Given the description of an element on the screen output the (x, y) to click on. 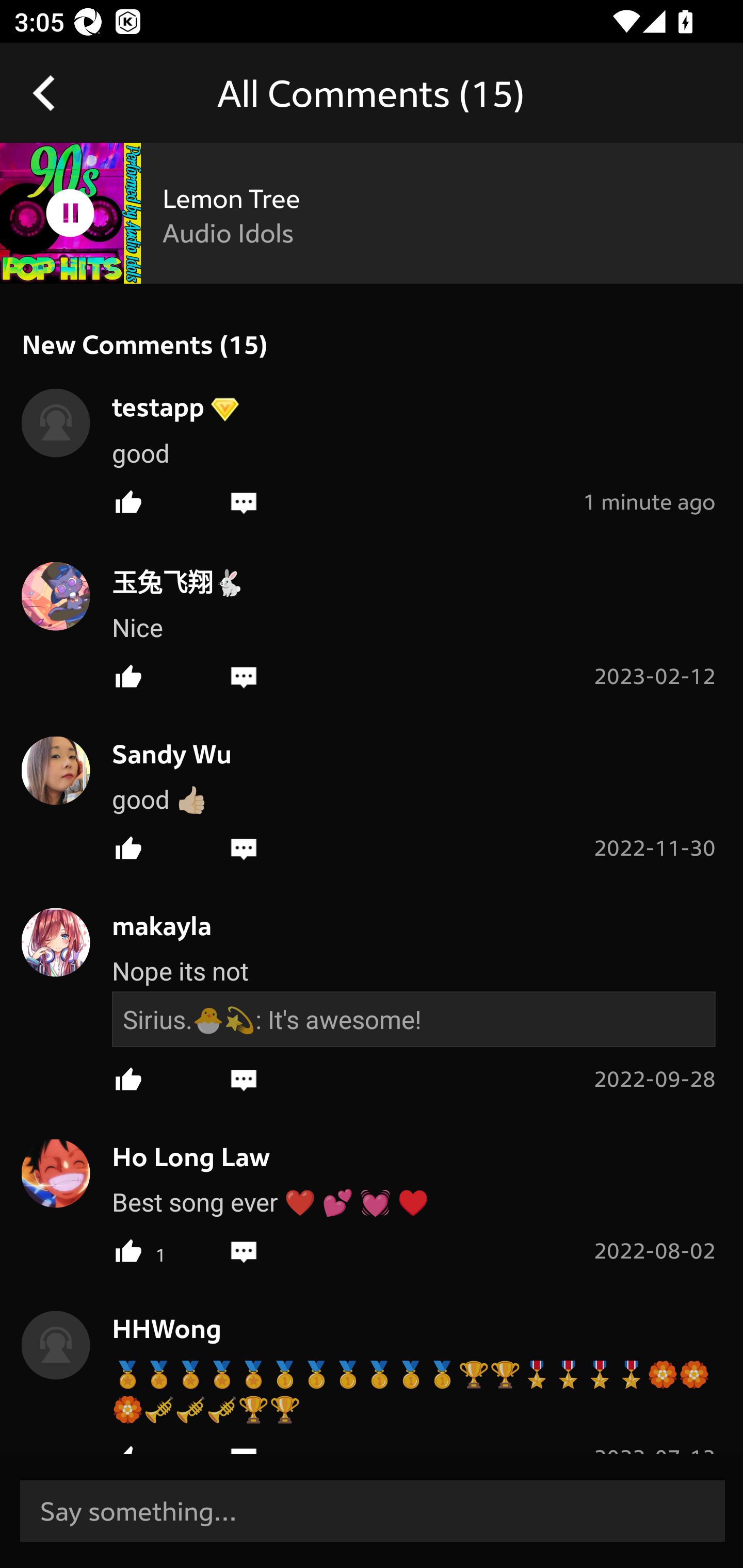
testapp good 1 minute ago (371, 448)
testapp (147, 405)
玉兔飞翔🐇 Nice 2023-02-12 (371, 621)
玉兔飞翔🐇 (167, 580)
Sandy Wu good 👍🏻  2022-11-30 (371, 794)
Sandy Wu (160, 753)
makayla (150, 924)
Ho Long Law Best song ever ❤ 💕 💓 ♥  1 2022-08-02 (371, 1197)
Ho Long Law (180, 1156)
HHWong 🏅🏅🏅🏅🏅🥇🥇🥇🥇🥇🥇🏆🏆🎖🎖🎖🎖🏵🏵🏵🎺🎺🎺🏆🏆 2022-07-13 (371, 1368)
HHWong (156, 1327)
Say something... (372, 1510)
